Given the description of an element on the screen output the (x, y) to click on. 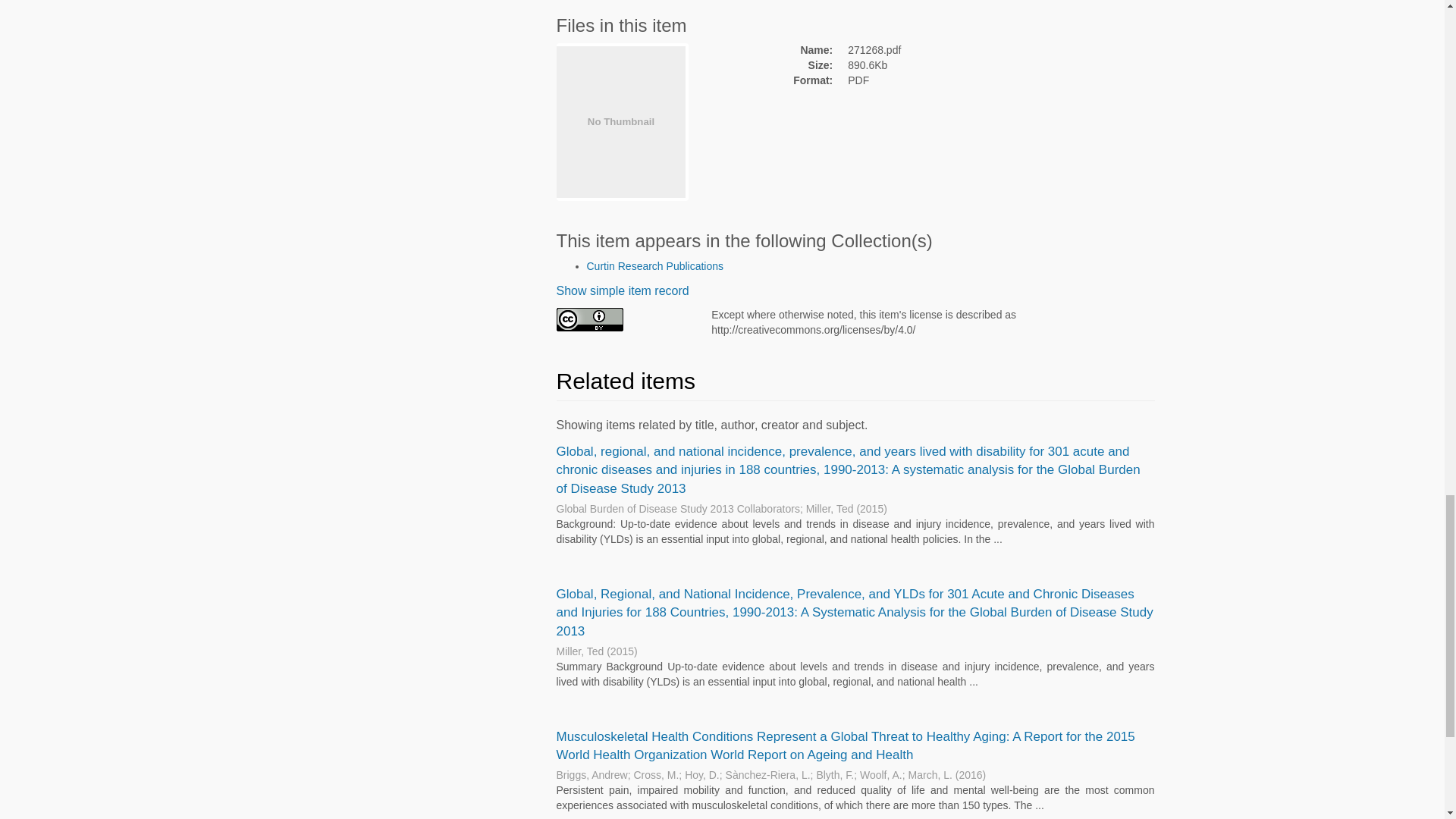
Curtin Research Publications (654, 265)
271268.pdf (949, 50)
Show simple item record (622, 290)
